Given the description of an element on the screen output the (x, y) to click on. 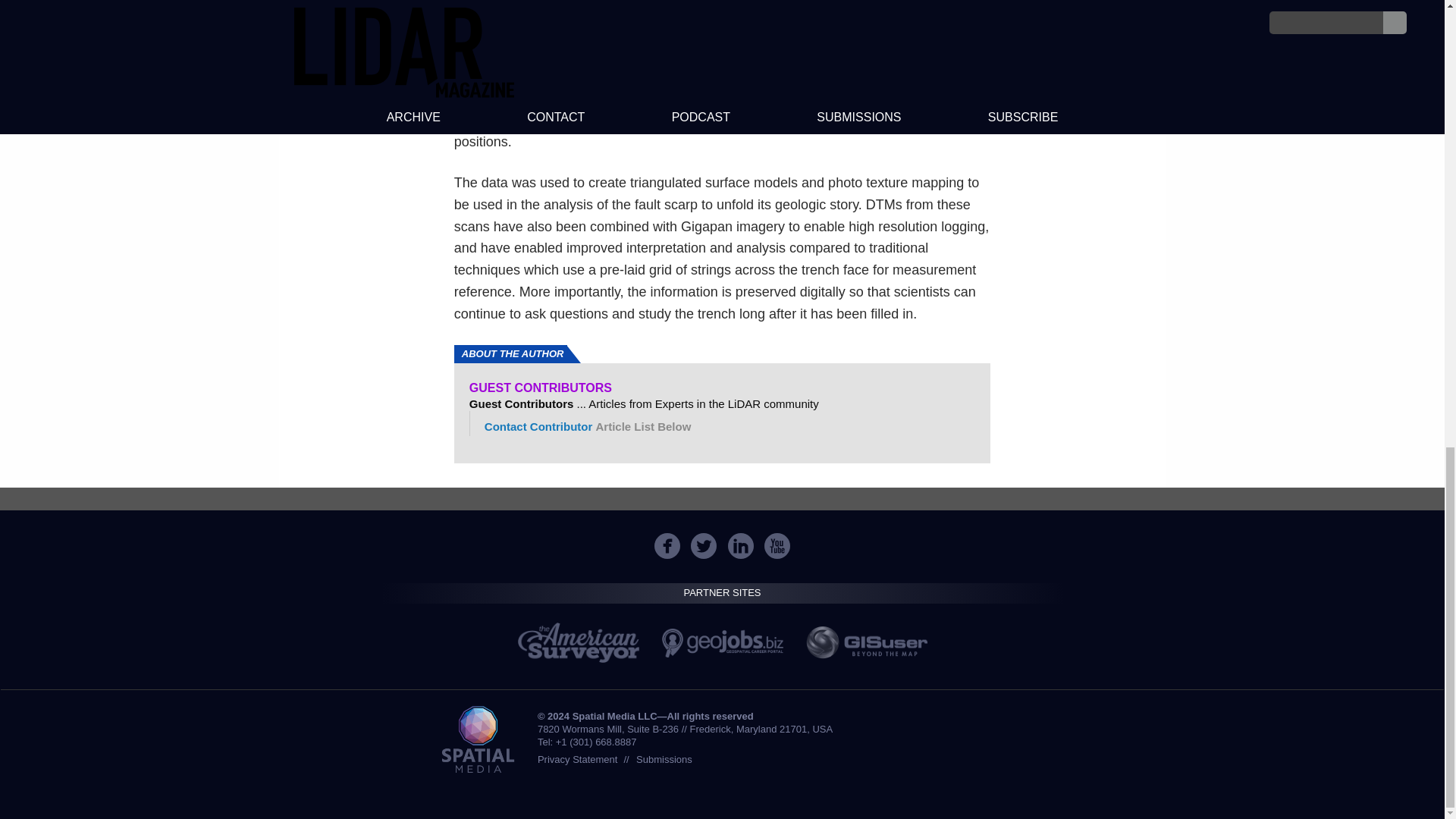
icon-sm-youtube (777, 545)
icon-sm-linkedin (740, 545)
Privacy Statement (577, 758)
Submissions (664, 758)
icon-sm-fb (666, 545)
icon-sm-linkedin (741, 545)
Contact Contributor (538, 426)
icon-sm-twitter (703, 545)
icon-sm-twitter (703, 545)
icon-sm-fb (667, 545)
icon-sm-youtube (776, 545)
